Given the description of an element on the screen output the (x, y) to click on. 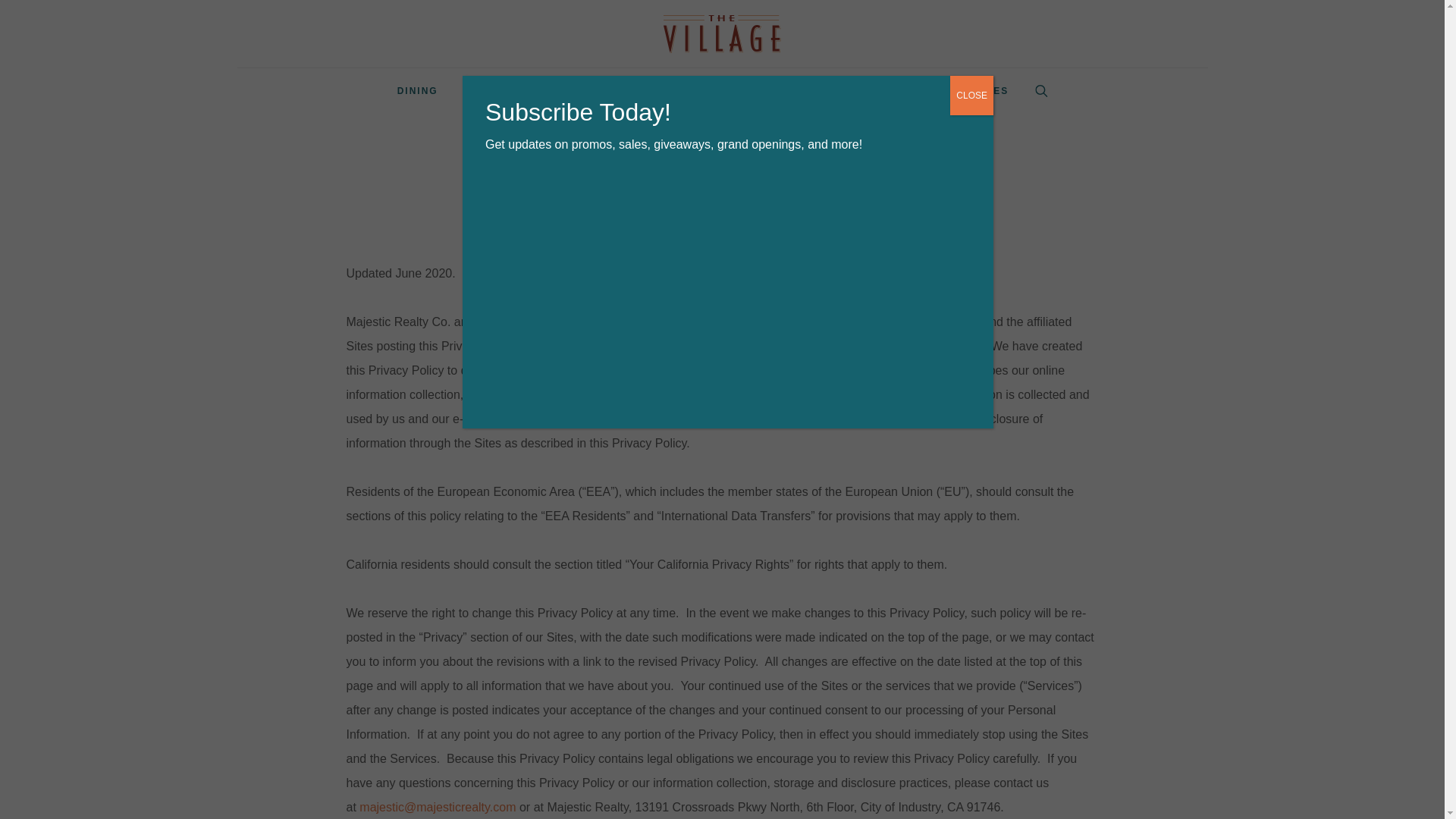
www.majesticrealty.com (914, 321)
SHOPPING (494, 90)
GUEST SERVICES (958, 90)
SERVICES (579, 90)
DIRECTORY MAP (682, 90)
Form 0 (727, 308)
DINING (417, 90)
OFFERS AND EVENTS (818, 90)
